Given the description of an element on the screen output the (x, y) to click on. 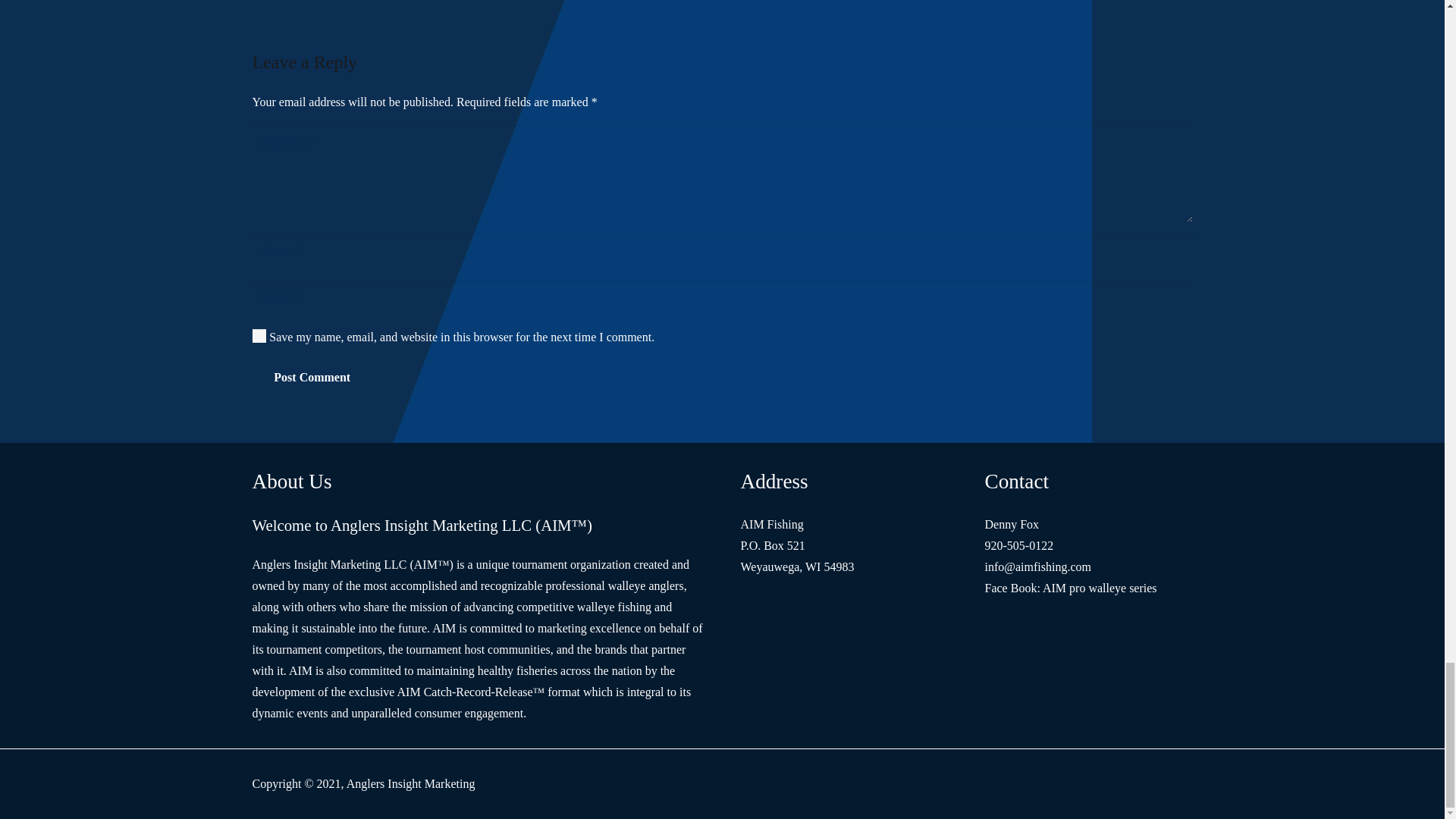
Post Comment (311, 376)
1 (258, 335)
